Given the description of an element on the screen output the (x, y) to click on. 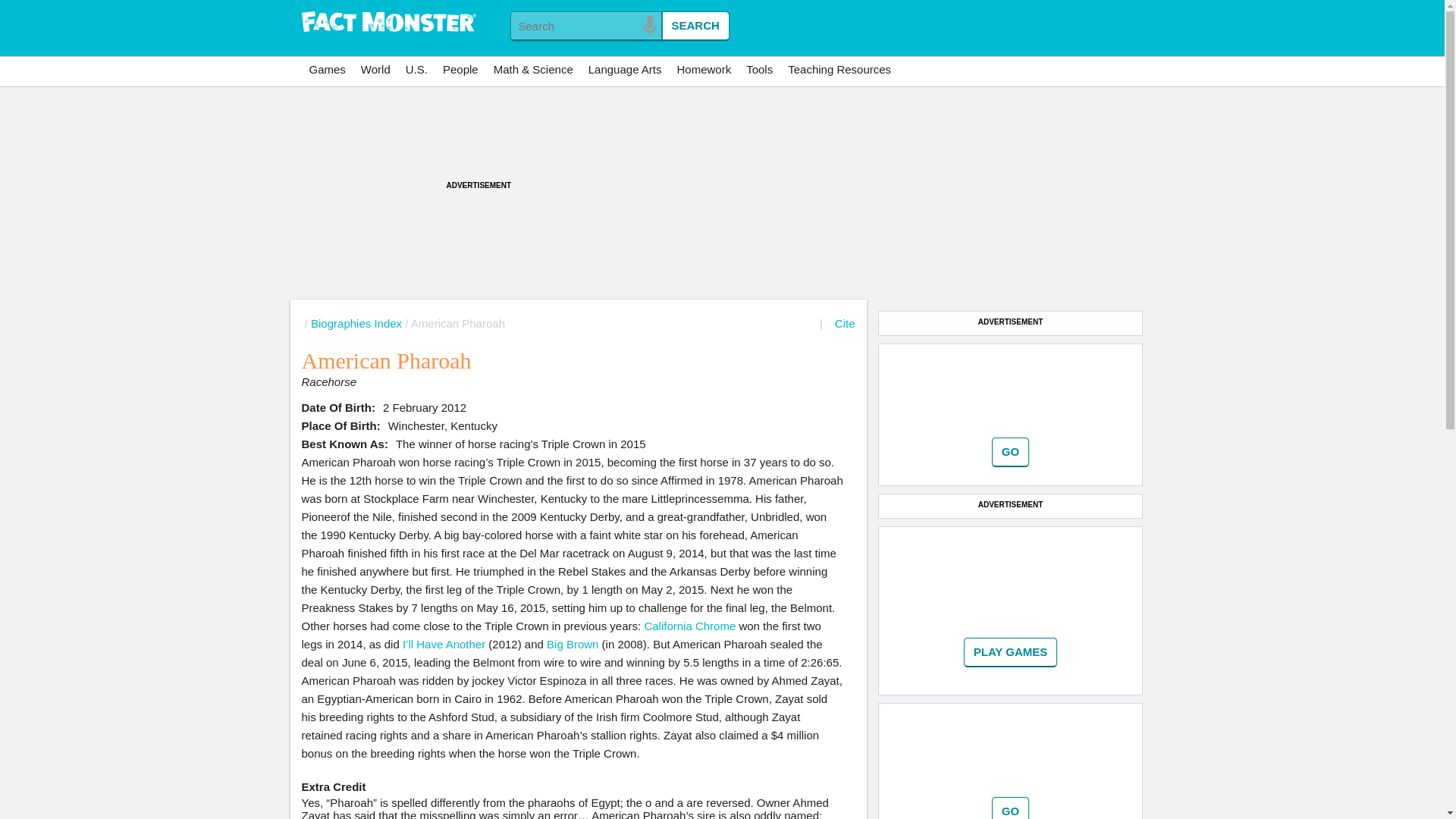
World (375, 69)
Use your microphone to enter your search (649, 25)
Go (1010, 652)
Search (695, 25)
Go (1010, 451)
Enter the terms you wish to search for. (585, 25)
Search (695, 25)
Visit our teacher resource sister site! (839, 69)
Go (1010, 807)
U.S. (416, 69)
Search (695, 25)
Games (327, 69)
Home (387, 22)
Play Games (1010, 652)
Go (1010, 807)
